Given the description of an element on the screen output the (x, y) to click on. 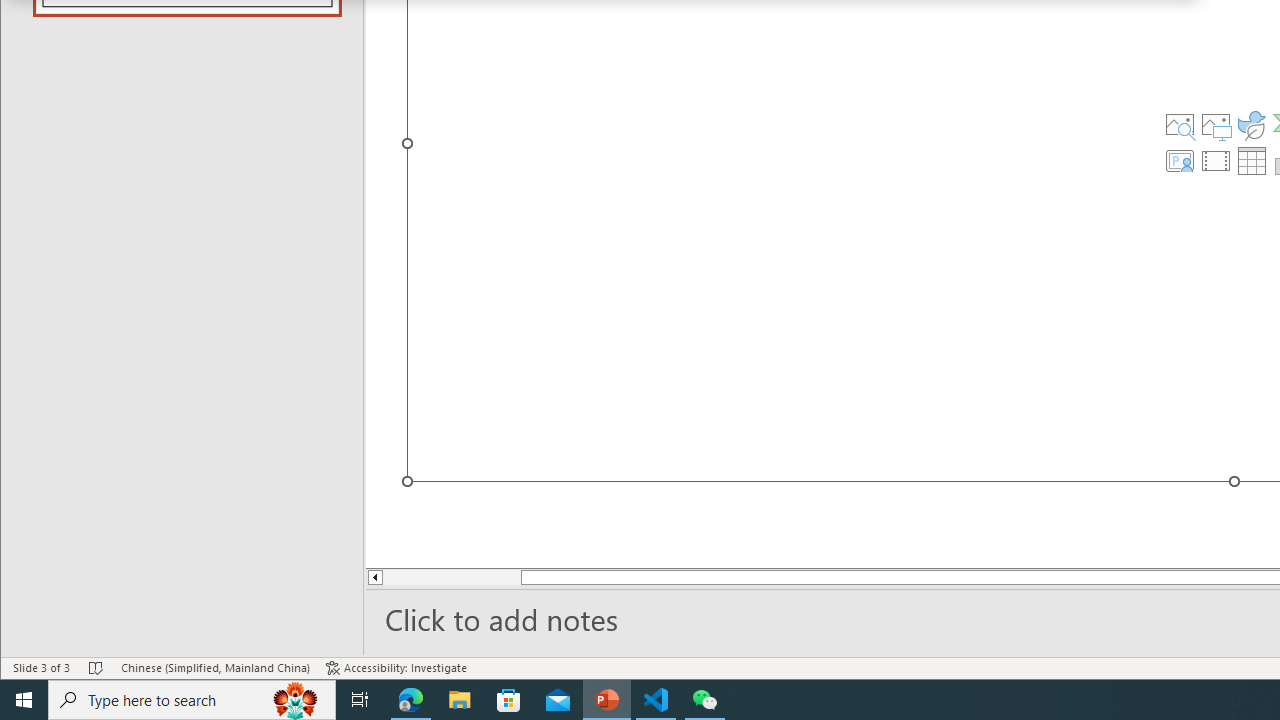
Insert Video (1215, 160)
Microsoft Edge - 1 running window (411, 699)
Pictures (1215, 124)
Insert Table (1252, 160)
WeChat - 1 running window (704, 699)
